Given the description of an element on the screen output the (x, y) to click on. 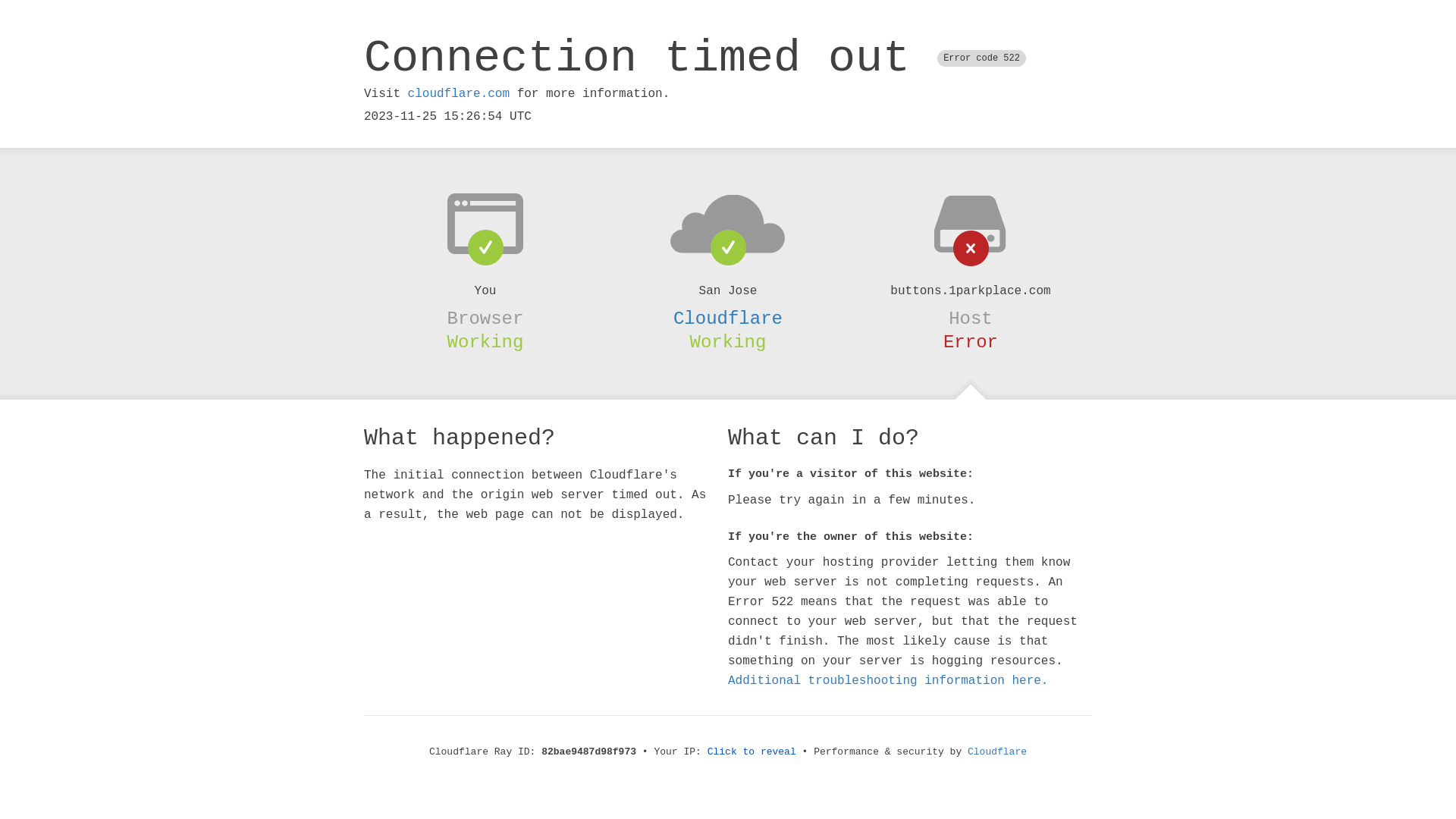
Click to reveal Element type: text (751, 751)
cloudflare.com Element type: text (458, 93)
Additional troubleshooting information here. Element type: text (888, 680)
Cloudflare Element type: text (727, 318)
Cloudflare Element type: text (996, 751)
